Given the description of an element on the screen output the (x, y) to click on. 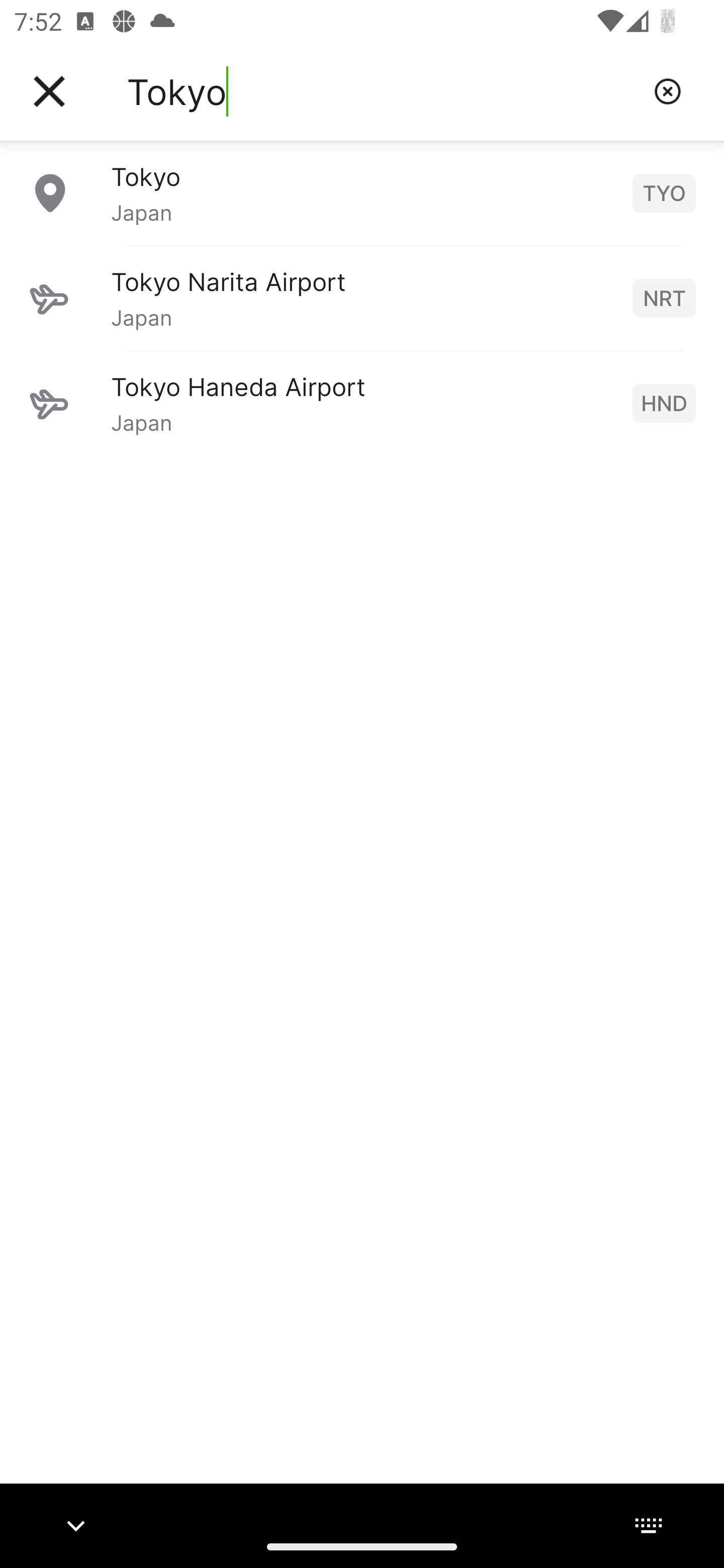
Tokyo (382, 91)
Tokyo Japan TYO (362, 192)
Tokyo Narita Airport Japan NRT (362, 297)
Tokyo Haneda Airport Japan HND (362, 402)
